Given the description of an element on the screen output the (x, y) to click on. 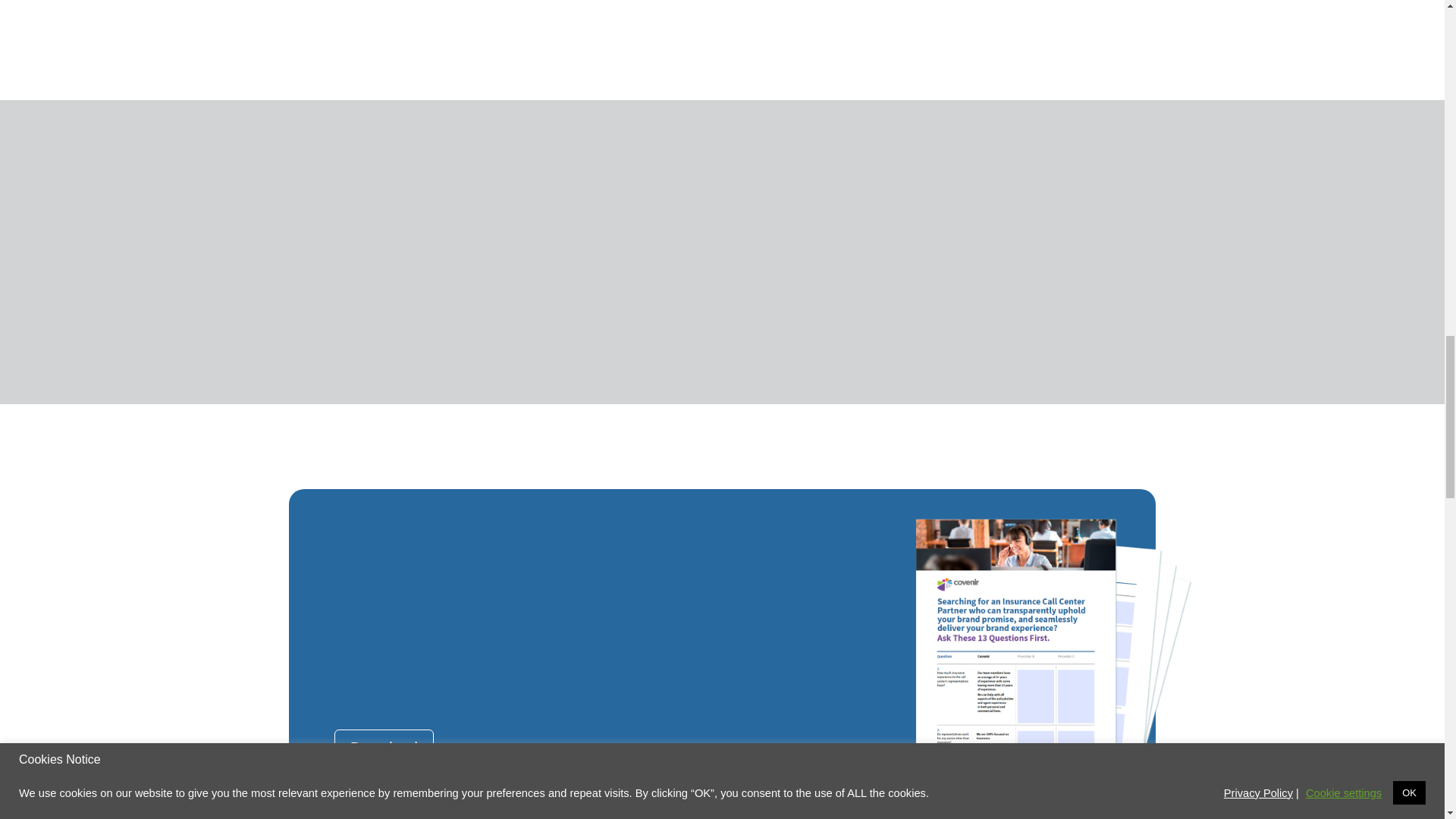
13QsThumb (1053, 668)
